Given the description of an element on the screen output the (x, y) to click on. 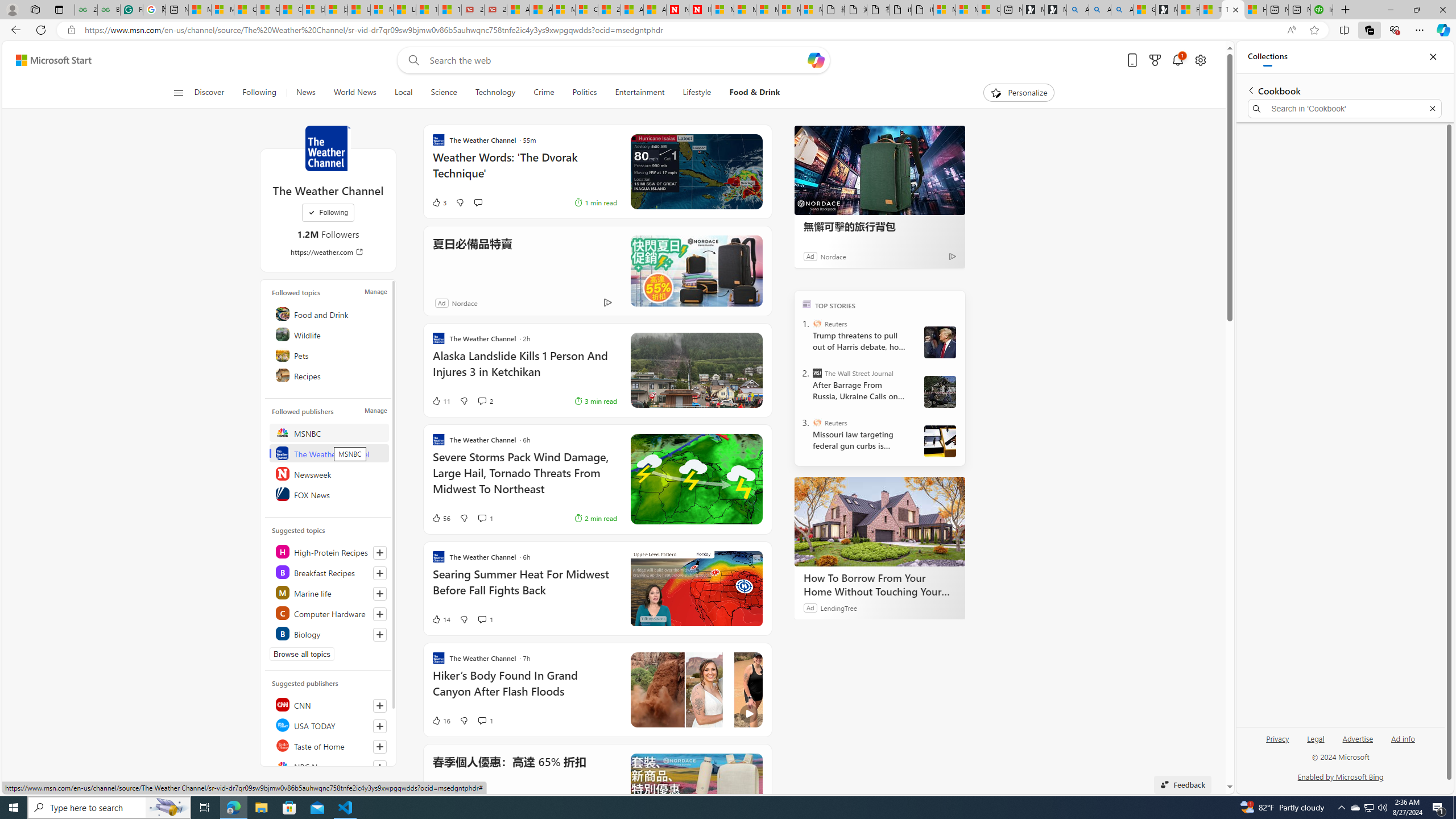
Newsweek (328, 473)
Reuters (816, 422)
Food and Drink - MSN (1188, 9)
